Given the description of an element on the screen output the (x, y) to click on. 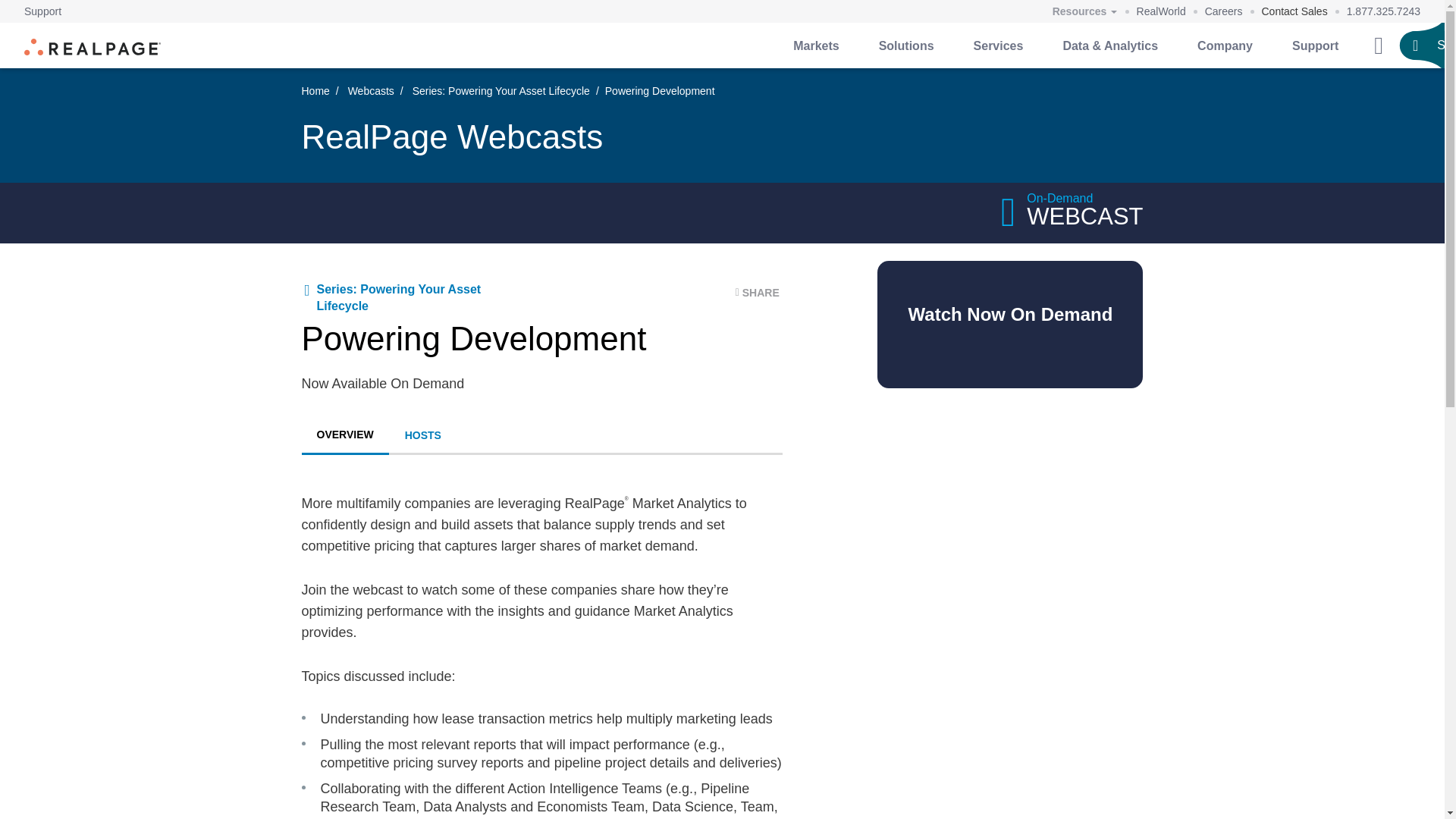
Careers (1224, 11)
Support (42, 11)
Contact Sales (1294, 11)
1.877.325.7243 (1383, 11)
Support (42, 11)
Careers (1224, 11)
Markets (816, 44)
Contact Sales (1294, 11)
RealWorld (1161, 11)
RealWorld (1161, 11)
Resources (1084, 11)
Solutions (906, 44)
